Given the description of an element on the screen output the (x, y) to click on. 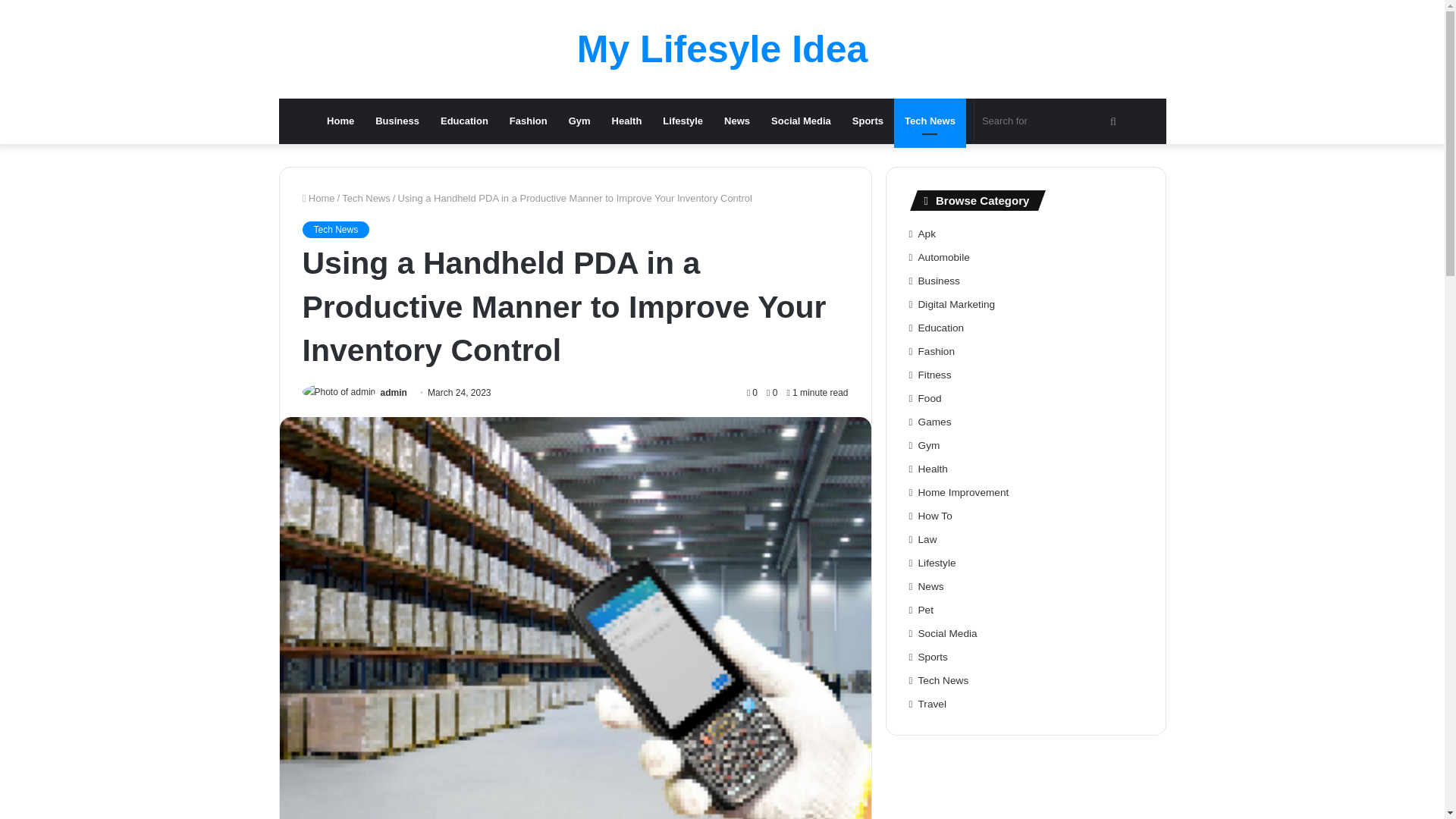
admin (393, 392)
Search for (1112, 121)
Education (464, 121)
Health (626, 121)
News (736, 121)
Lifestyle (682, 121)
admin (393, 392)
Tech News (929, 121)
Tech News (366, 197)
Home (317, 197)
My Lifesyle Idea (721, 48)
Sports (867, 121)
Home (340, 121)
Gym (579, 121)
Fashion (528, 121)
